Given the description of an element on the screen output the (x, y) to click on. 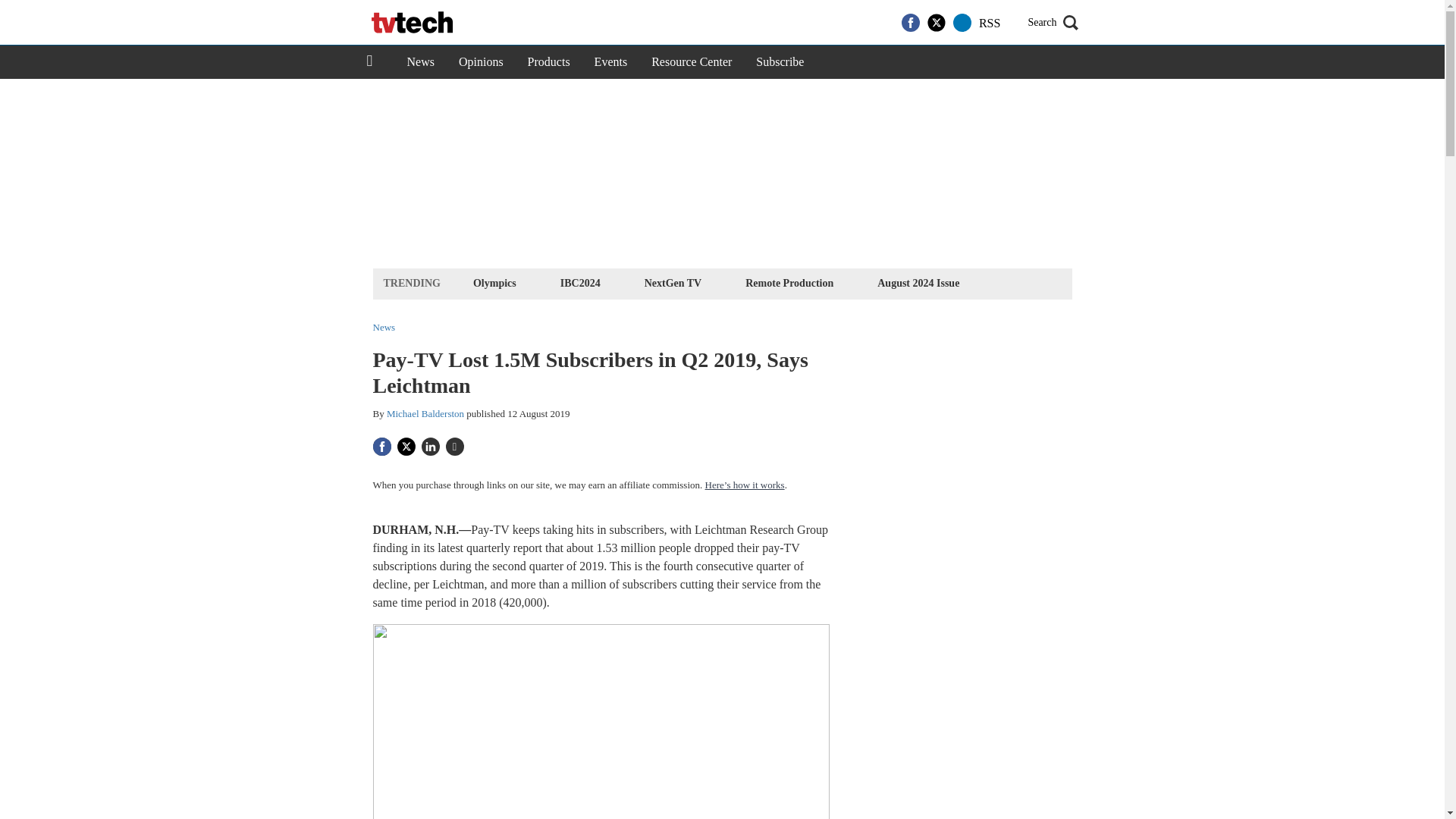
IBC2024 (579, 282)
Opinions (480, 61)
RSS (989, 22)
Products (548, 61)
Michael Balderston (425, 413)
Remote Production (788, 282)
Resource Center (691, 61)
Subscribe (779, 61)
News (419, 61)
Olympics (494, 282)
